Given the description of an element on the screen output the (x, y) to click on. 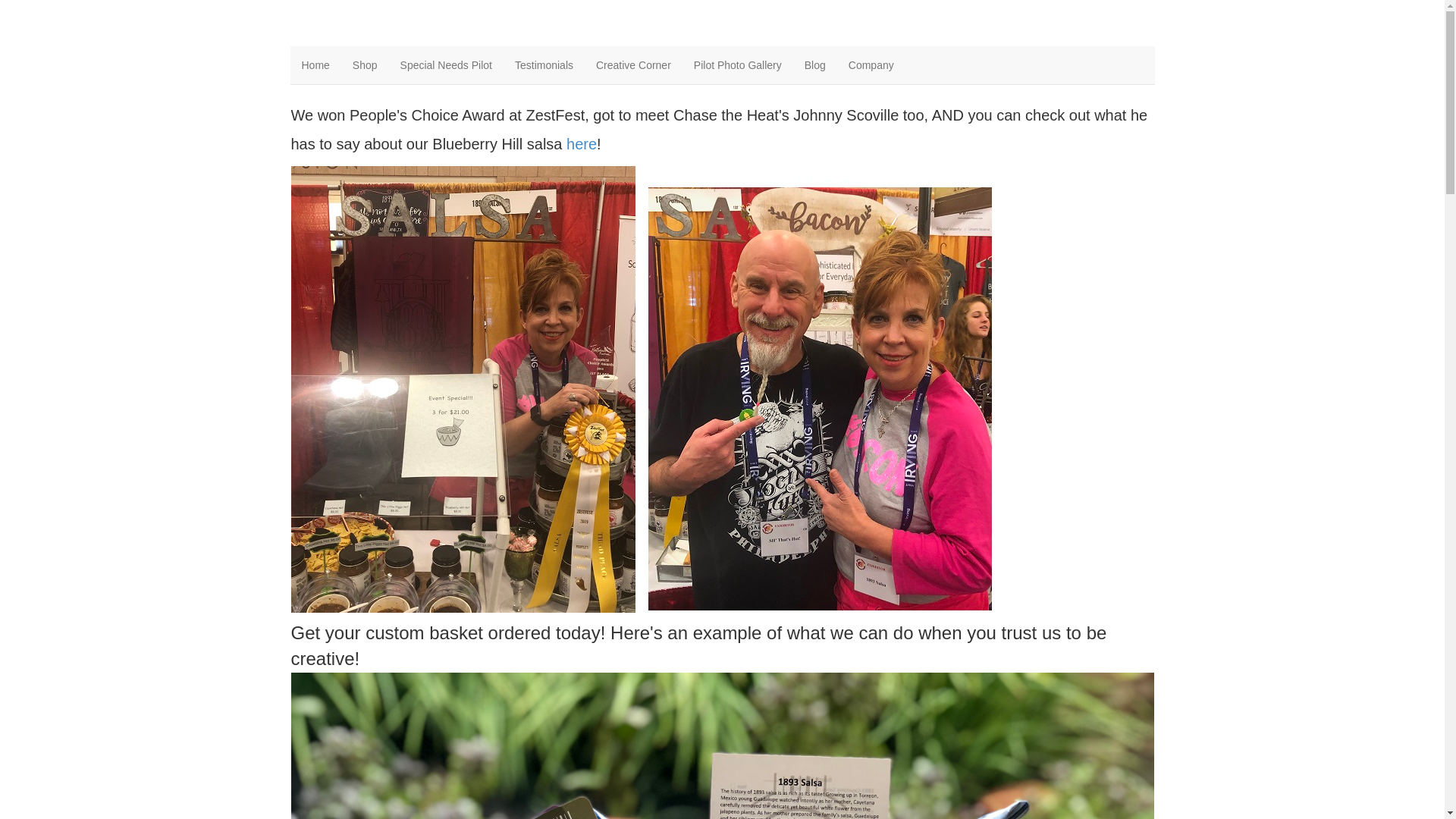
Pilot Photo Gallery Element type: text (737, 65)
Blog Element type: text (815, 65)
Creative Corner Element type: text (633, 65)
Special Needs Pilot Element type: text (446, 65)
Testimonials Element type: text (543, 65)
Company Element type: text (871, 65)
Home Element type: text (314, 65)
Shop Element type: text (365, 65)
here Element type: text (581, 143)
